Given the description of an element on the screen output the (x, y) to click on. 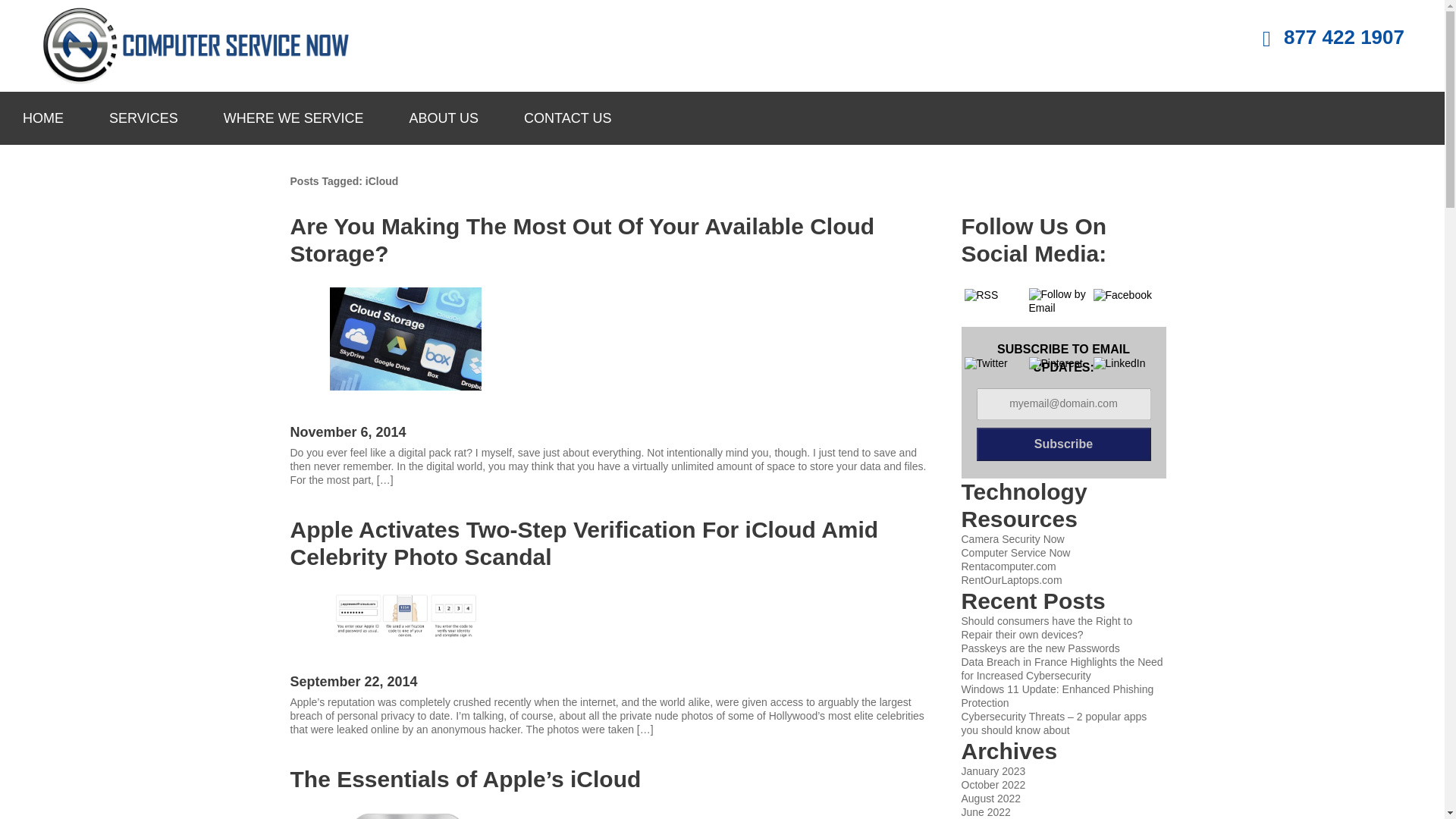
Computer Service Now (1015, 552)
WHERE WE SERVICE (293, 117)
RSS (980, 295)
Subscribe (1063, 444)
Subscribe (1063, 444)
Facebook (1122, 295)
CONTACT US (566, 117)
Follow by Email (1058, 301)
Read More (315, 758)
Camera Security Now (1012, 539)
RentOurLaptops.com (1011, 580)
Are You Making The Most Out Of Your Available Cloud Storage? (315, 508)
Are You Making The Most Out Of Your Available Cloud Storage? (607, 239)
